Given the description of an element on the screen output the (x, y) to click on. 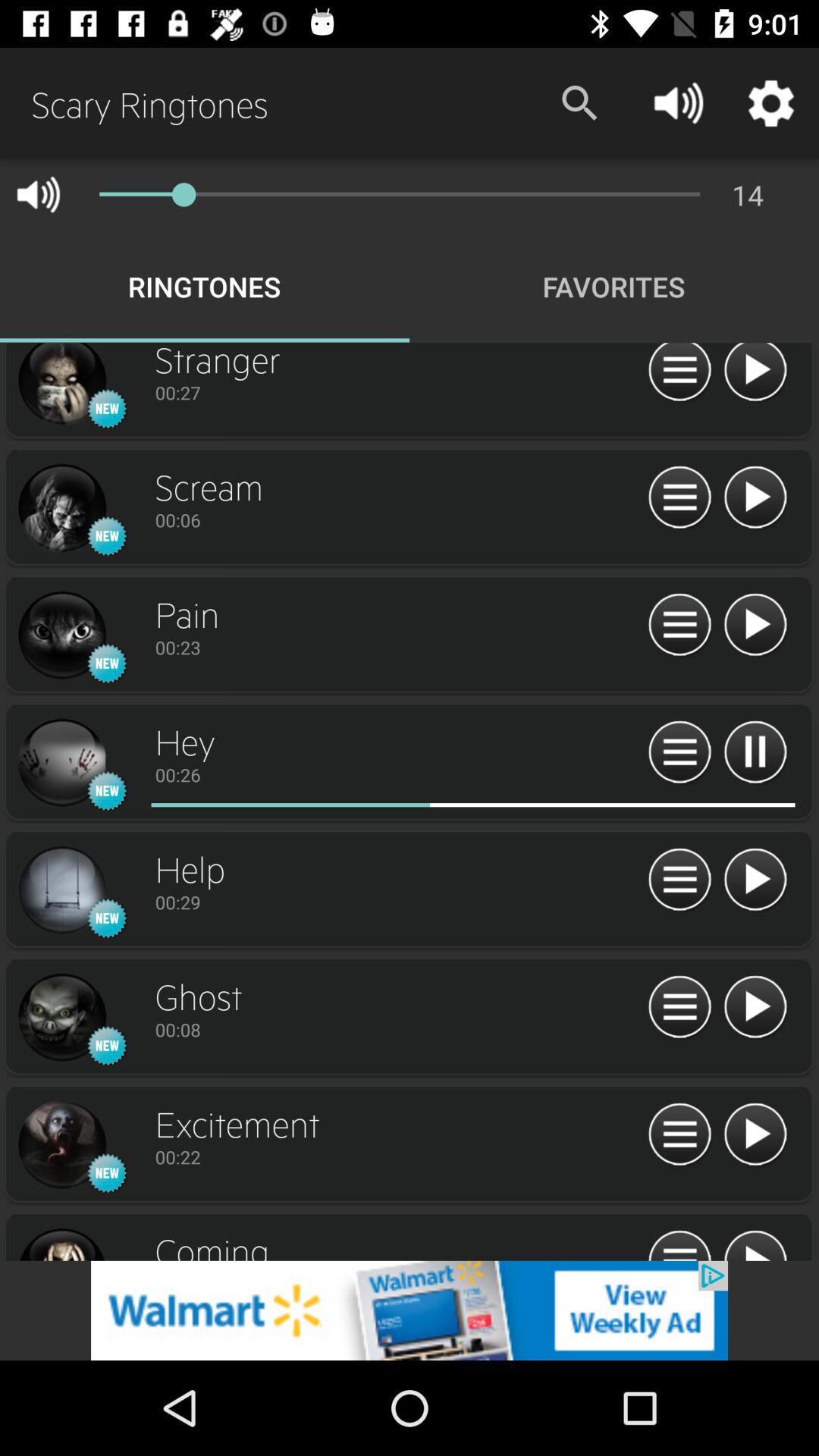
open the sub-menu for this ringtone (679, 880)
